Given the description of an element on the screen output the (x, y) to click on. 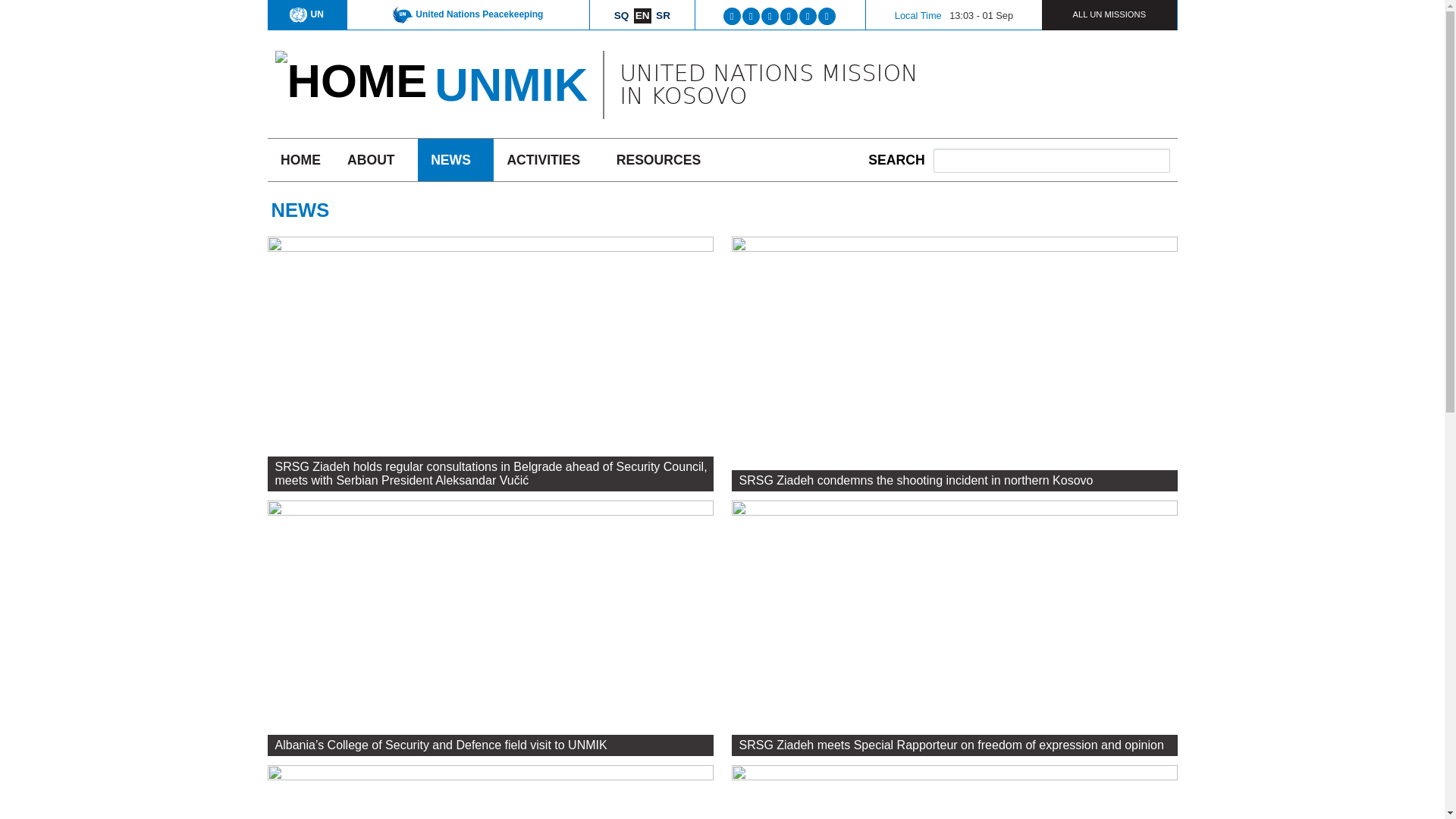
SQ (621, 15)
Enter the terms you wish to search for. (1051, 160)
SR (662, 15)
UN (306, 14)
United Nations Peacekeeping (468, 14)
Home (510, 84)
UNMIK (510, 84)
EN (641, 15)
ALL UN MISSIONS (1109, 13)
Home (349, 80)
